Given the description of an element on the screen output the (x, y) to click on. 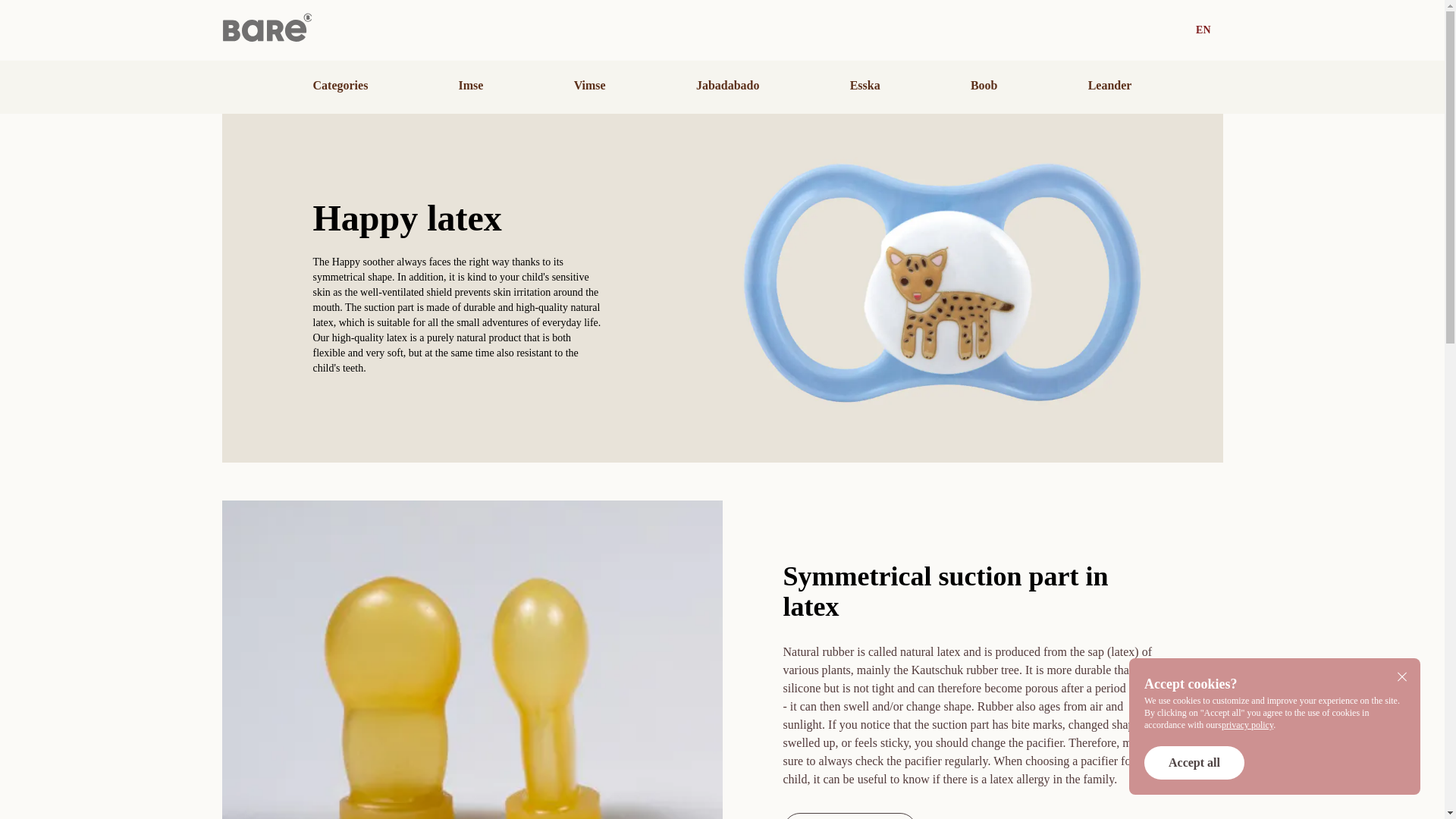
Categories (340, 84)
EN (1202, 29)
